Given the description of an element on the screen output the (x, y) to click on. 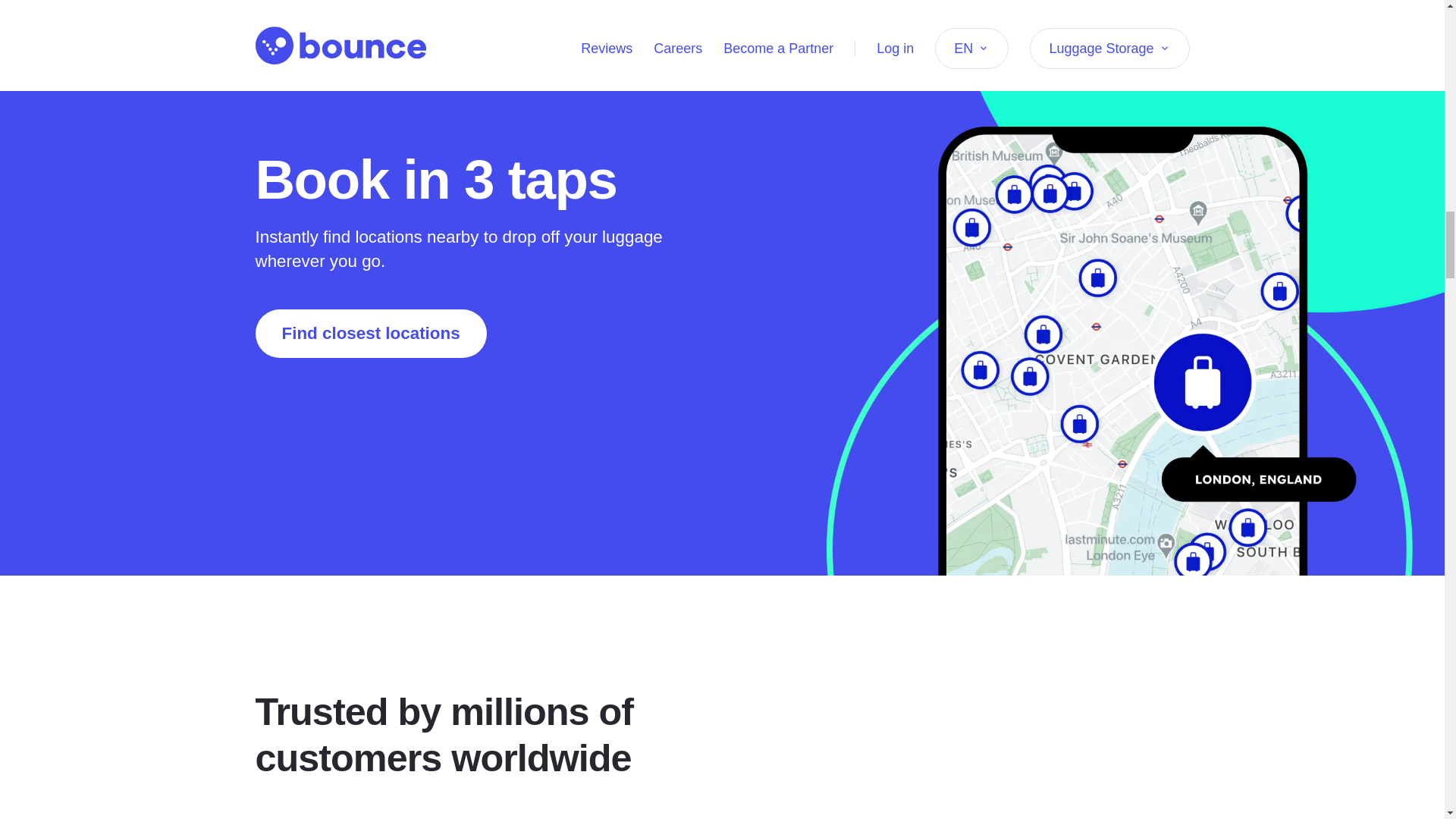
Find closest locations (370, 333)
